Given the description of an element on the screen output the (x, y) to click on. 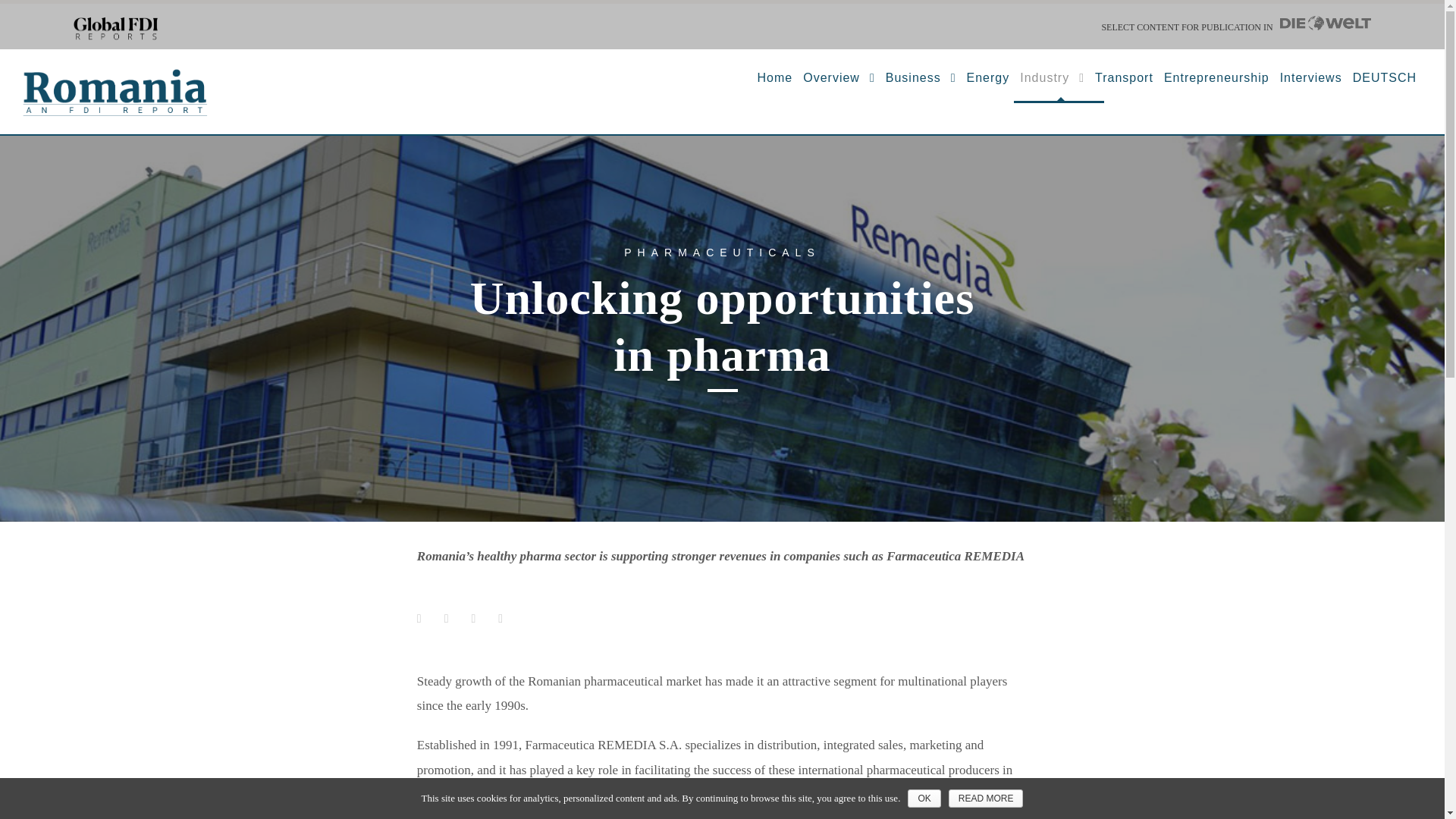
Overview (839, 85)
Energy (988, 85)
Industry (1052, 85)
Business (920, 85)
Entrepreneurship (1216, 85)
DEUTSCH (1384, 85)
Interviews (1310, 85)
Home (775, 85)
Transport (1123, 85)
